Given the description of an element on the screen output the (x, y) to click on. 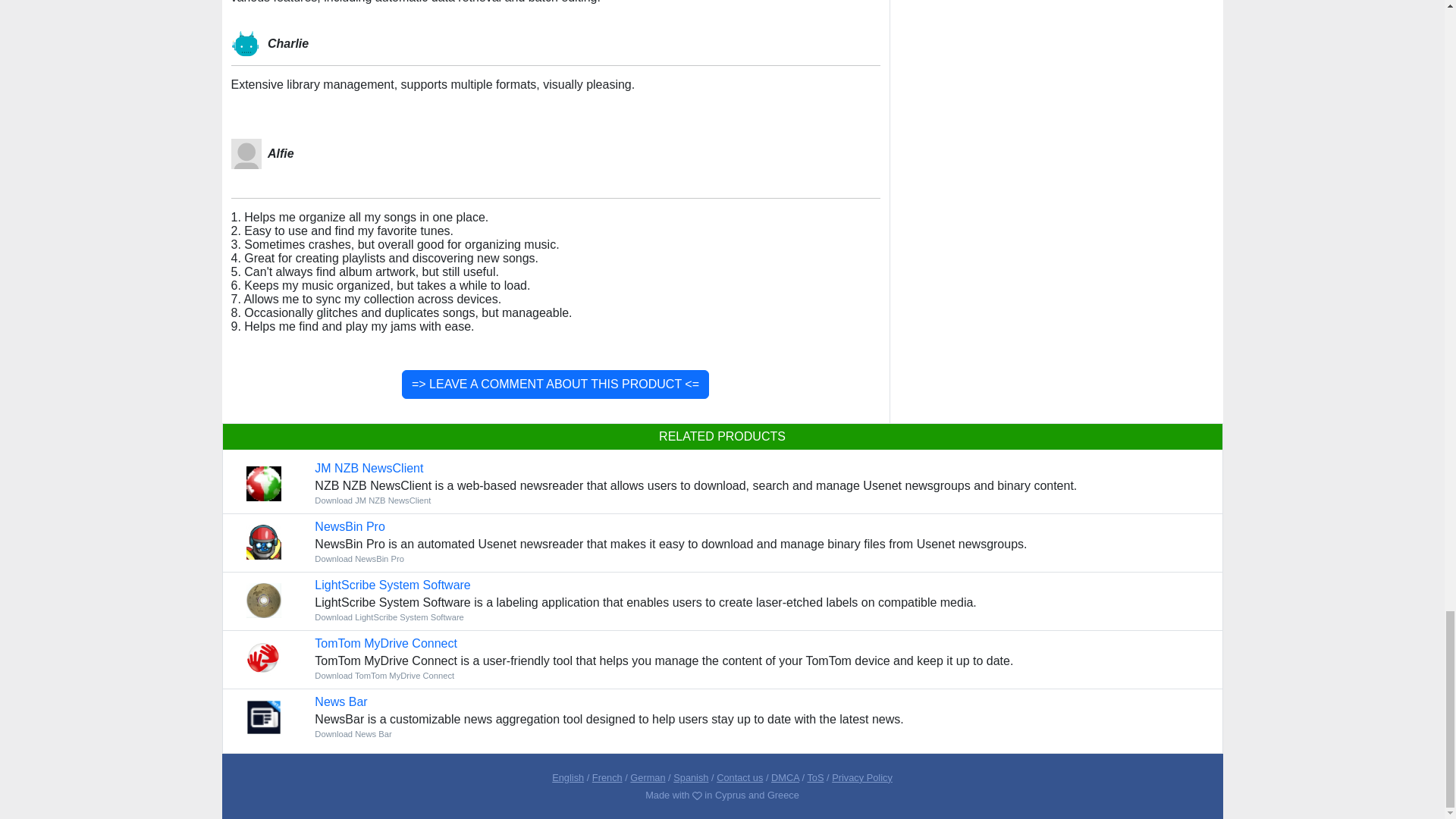
Download JM NZB NewsClient (372, 500)
JM NZB NewsClient (368, 468)
Download TomTom MyDrive Connect (384, 675)
DMCA (785, 777)
Download LightScribe System Software (389, 616)
Download JM NZB NewsClient (368, 468)
Spanish (689, 777)
TomTom MyDrive Connect (385, 643)
News Bar (340, 701)
French (607, 777)
